Given the description of an element on the screen output the (x, y) to click on. 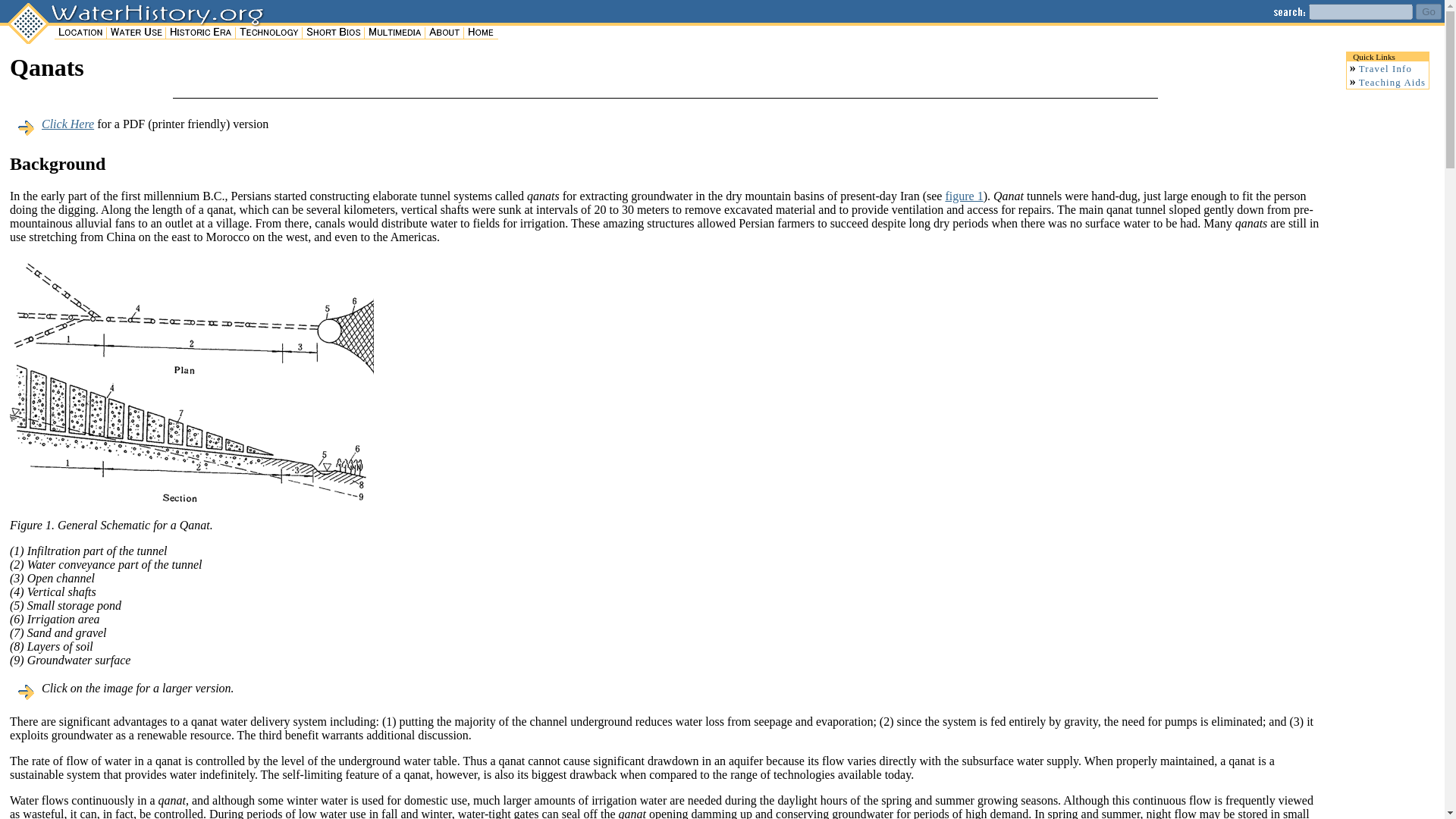
Go (1428, 10)
Go (1428, 10)
figure 1 (963, 195)
Click Here (68, 123)
